Given the description of an element on the screen output the (x, y) to click on. 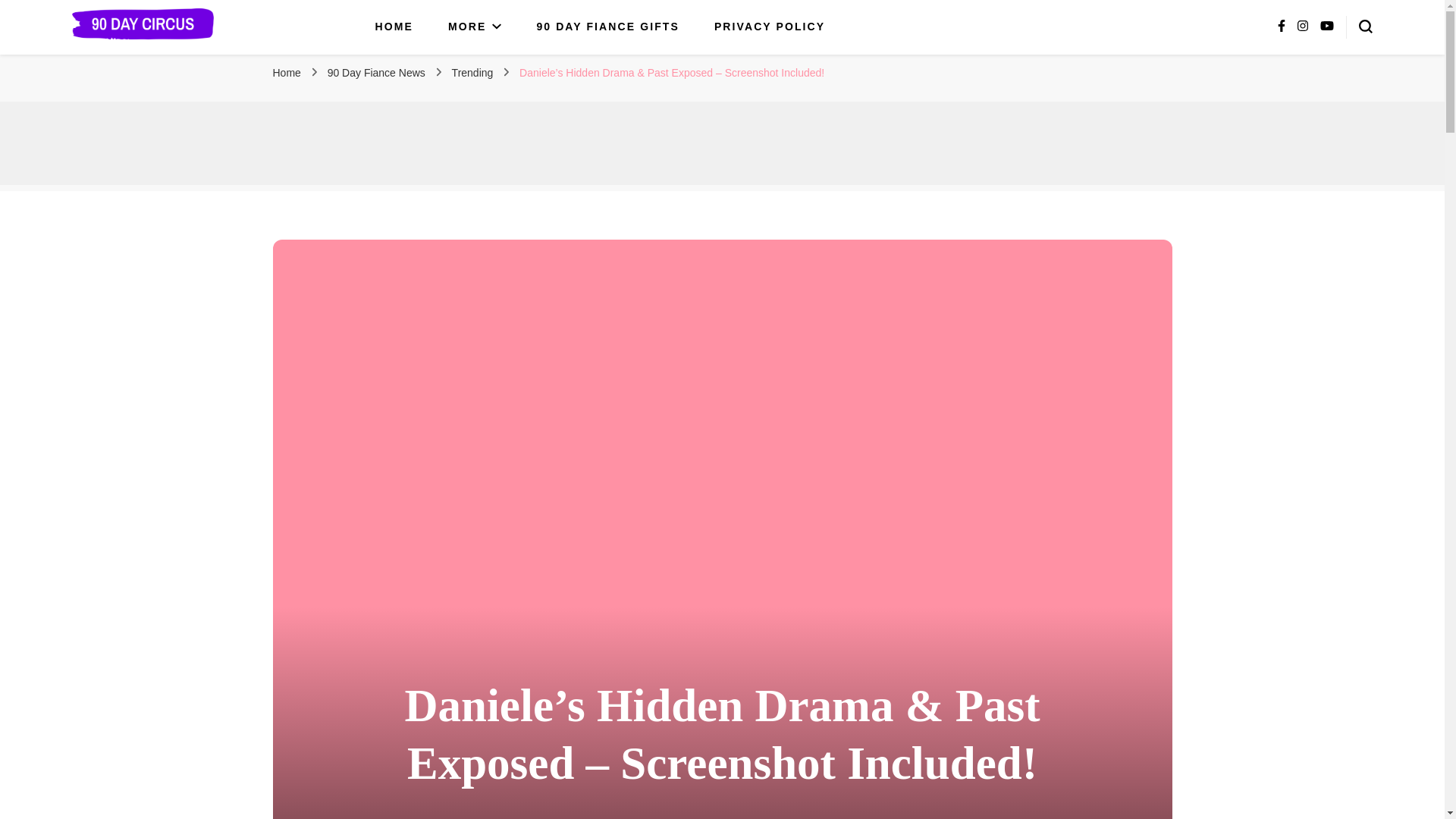
HOME (394, 26)
90 DAY FIANCE GIFTS (607, 26)
90 Day Fiance News (377, 72)
Trending (473, 72)
Home (287, 72)
MORE (474, 26)
PRIVACY POLICY (769, 26)
90 Day Circus (153, 61)
